Given the description of an element on the screen output the (x, y) to click on. 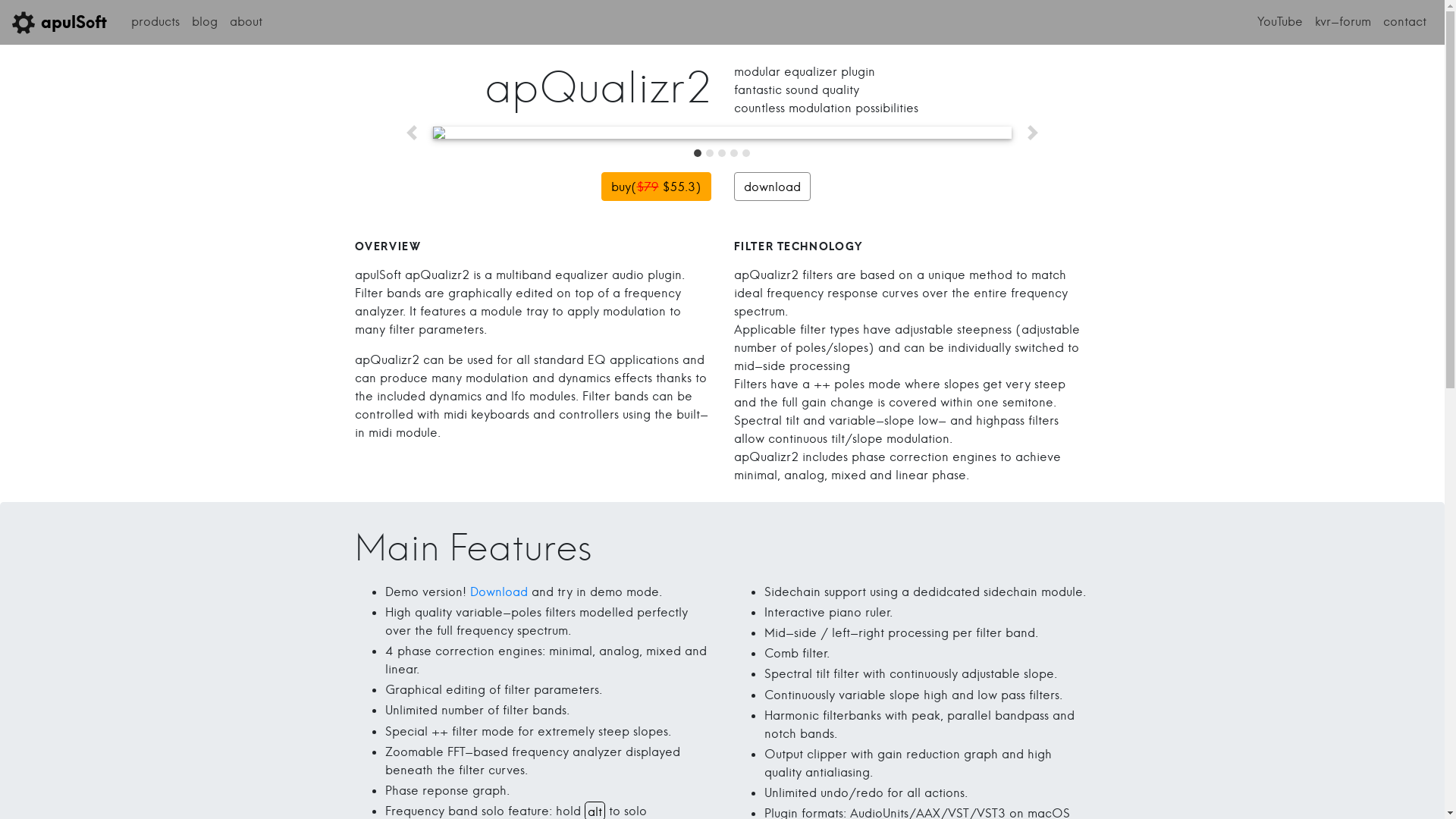
products Element type: text (155, 21)
Download Element type: text (498, 591)
next Element type: text (1032, 132)
kvr-forum Element type: text (1342, 21)
YouTube Element type: text (1279, 21)
previous Element type: text (411, 132)
download Element type: text (772, 186)
blog Element type: text (204, 21)
apulSoft Element type: text (59, 22)
contact Element type: text (1404, 21)
about Element type: text (245, 21)
buy($79 $55.3) Element type: text (655, 186)
